Given the description of an element on the screen output the (x, y) to click on. 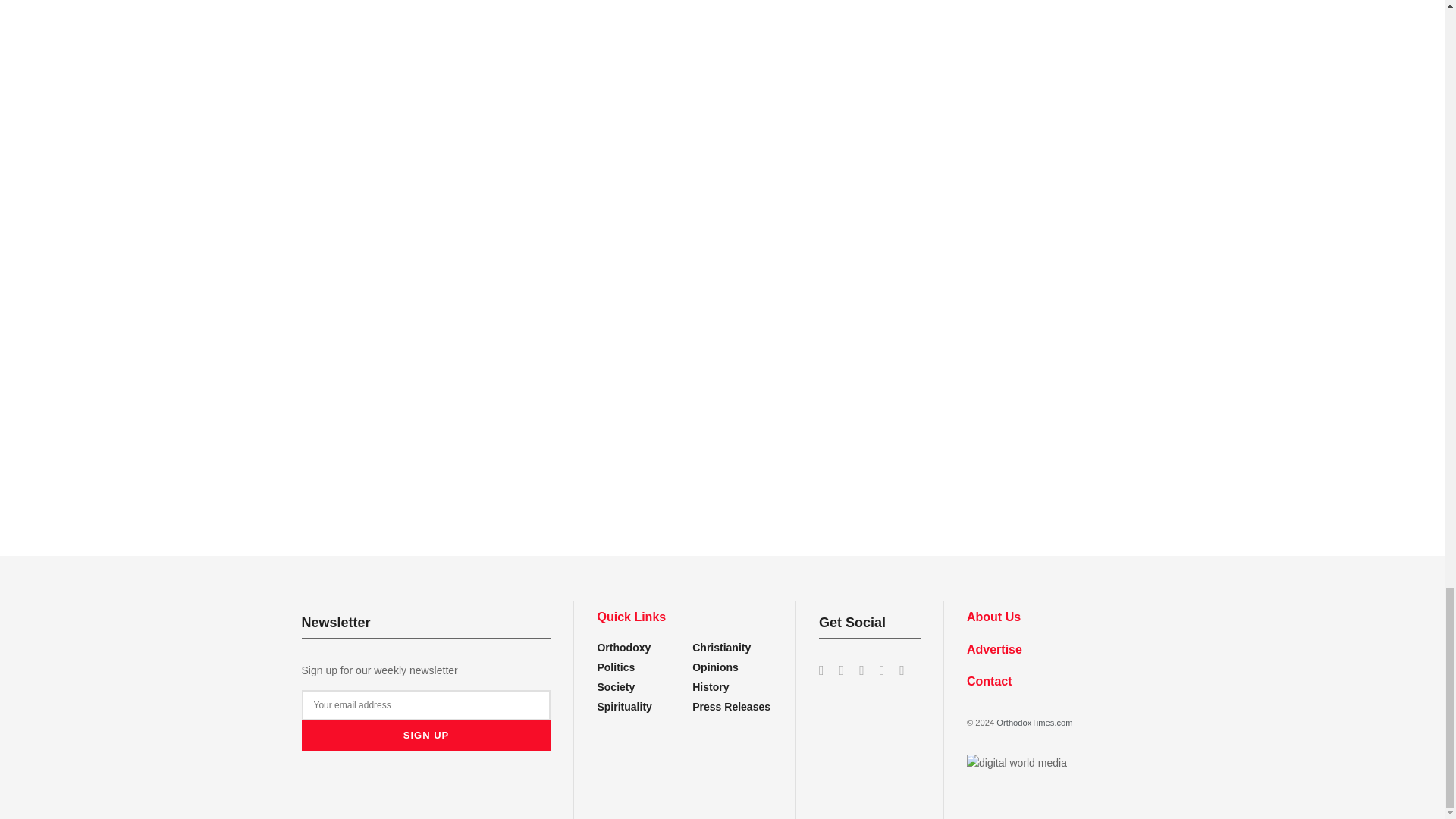
OrthodoxTimes.com (1033, 722)
You can add some category description here. (711, 686)
Sign up (426, 735)
You can add some category description here. (731, 706)
